Given the description of an element on the screen output the (x, y) to click on. 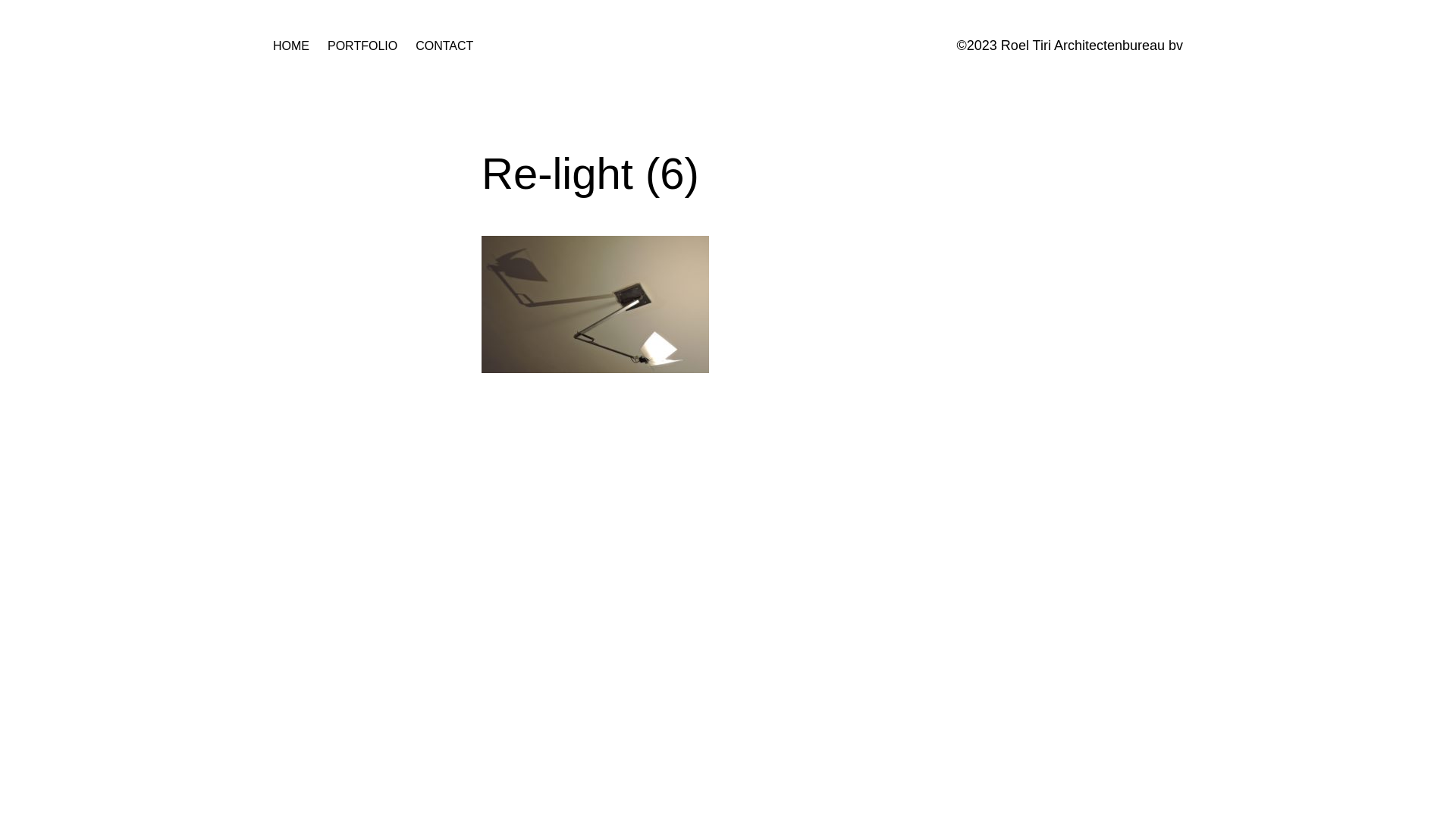
CONTACT Element type: text (444, 46)
HOME Element type: text (291, 46)
PORTFOLIO Element type: text (362, 46)
